Given the description of an element on the screen output the (x, y) to click on. 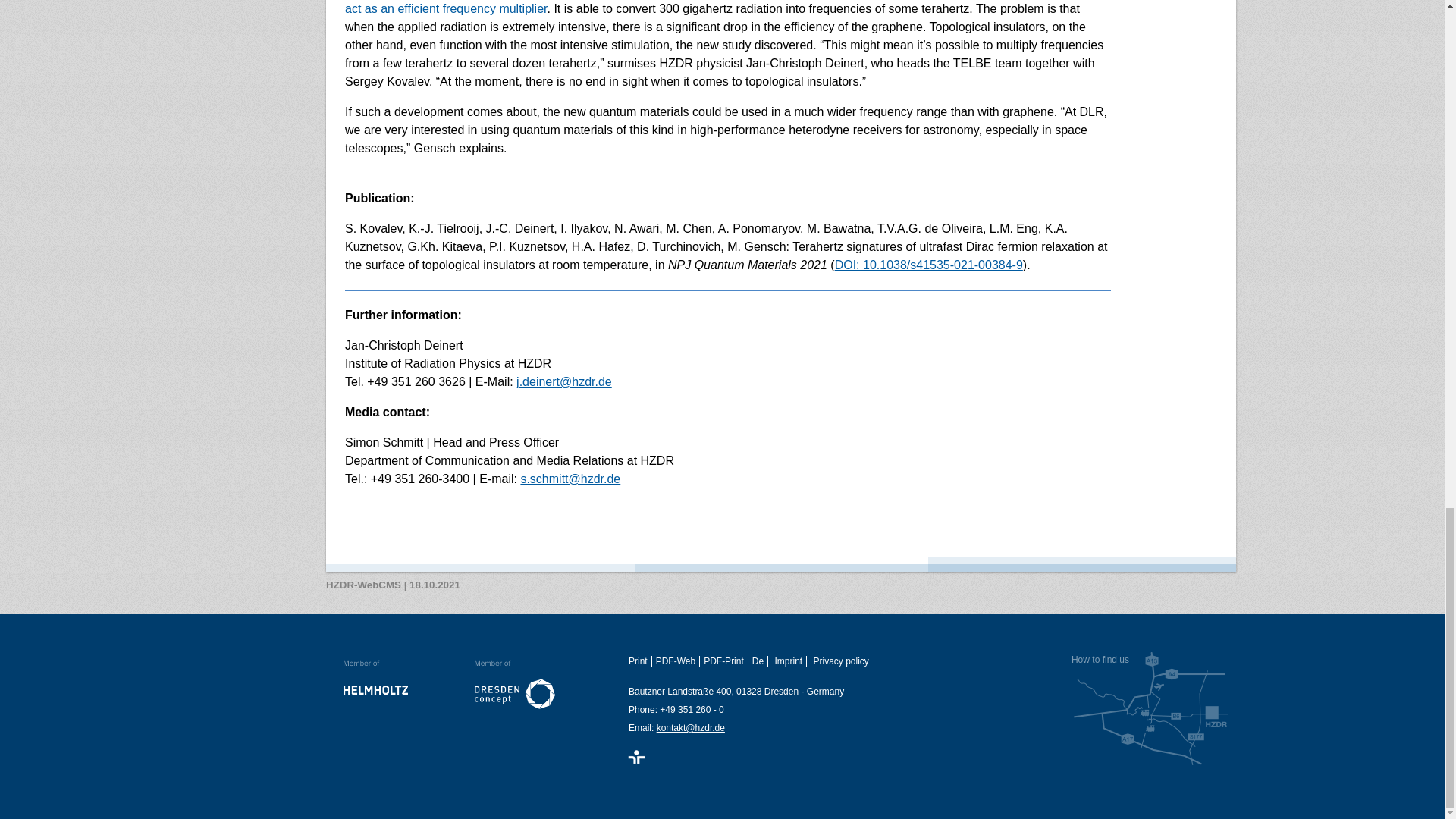
PDF-Web-Version (678, 661)
PDF-Print-Version (725, 661)
Print-Version (640, 661)
